Given the description of an element on the screen output the (x, y) to click on. 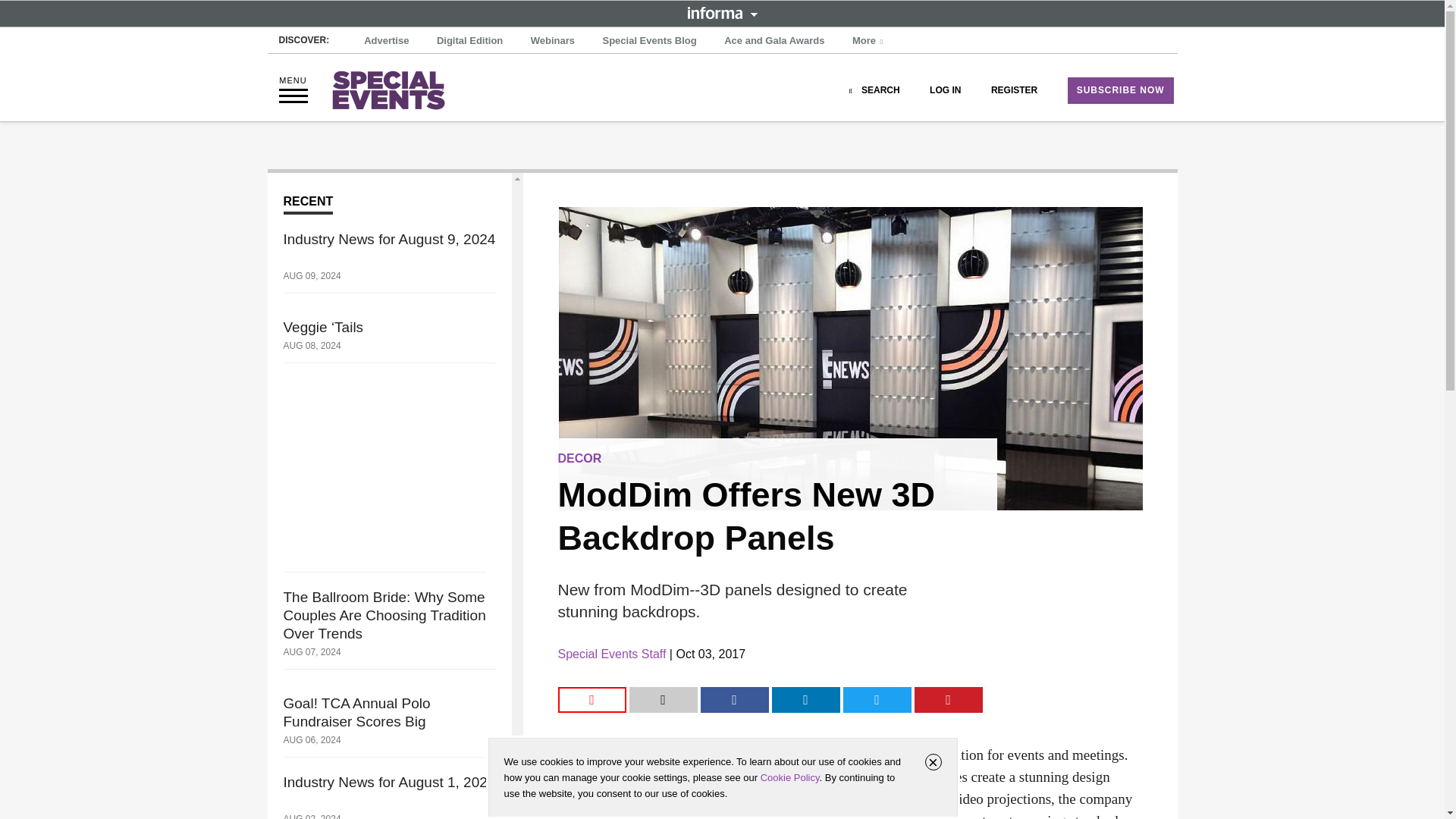
Digital Edition (469, 41)
Webinars (552, 41)
Special Events Blog (648, 41)
More (869, 41)
INFORMA (722, 12)
Advertise (386, 41)
Cookie Policy (789, 777)
Ace and Gala Awards (773, 41)
